Given the description of an element on the screen output the (x, y) to click on. 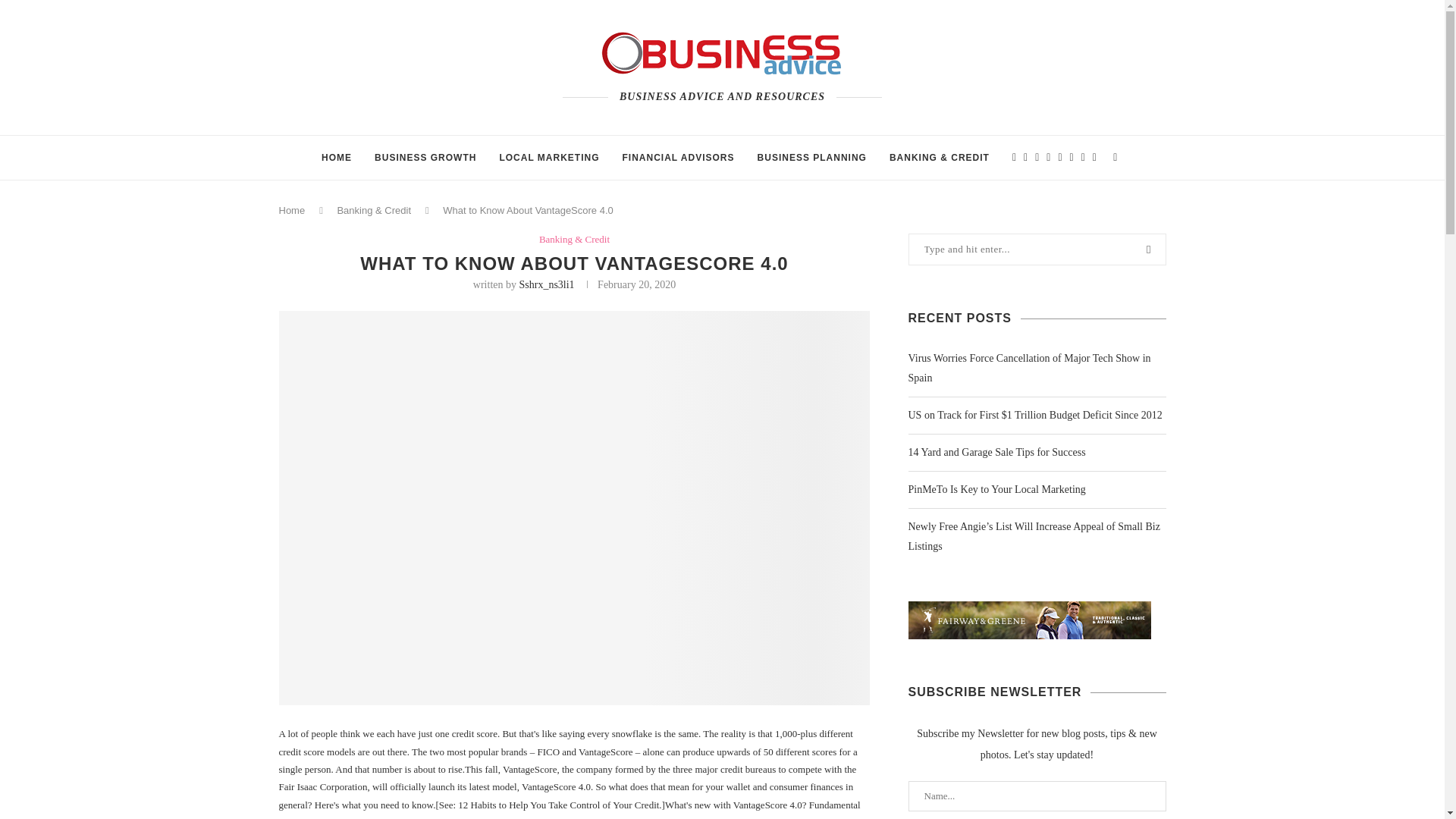
BUSINESS GROWTH (425, 157)
LOCAL MARKETING (548, 157)
Home (292, 210)
BUSINESS PLANNING (811, 157)
FINANCIAL ADVISORS (679, 157)
